Given the description of an element on the screen output the (x, y) to click on. 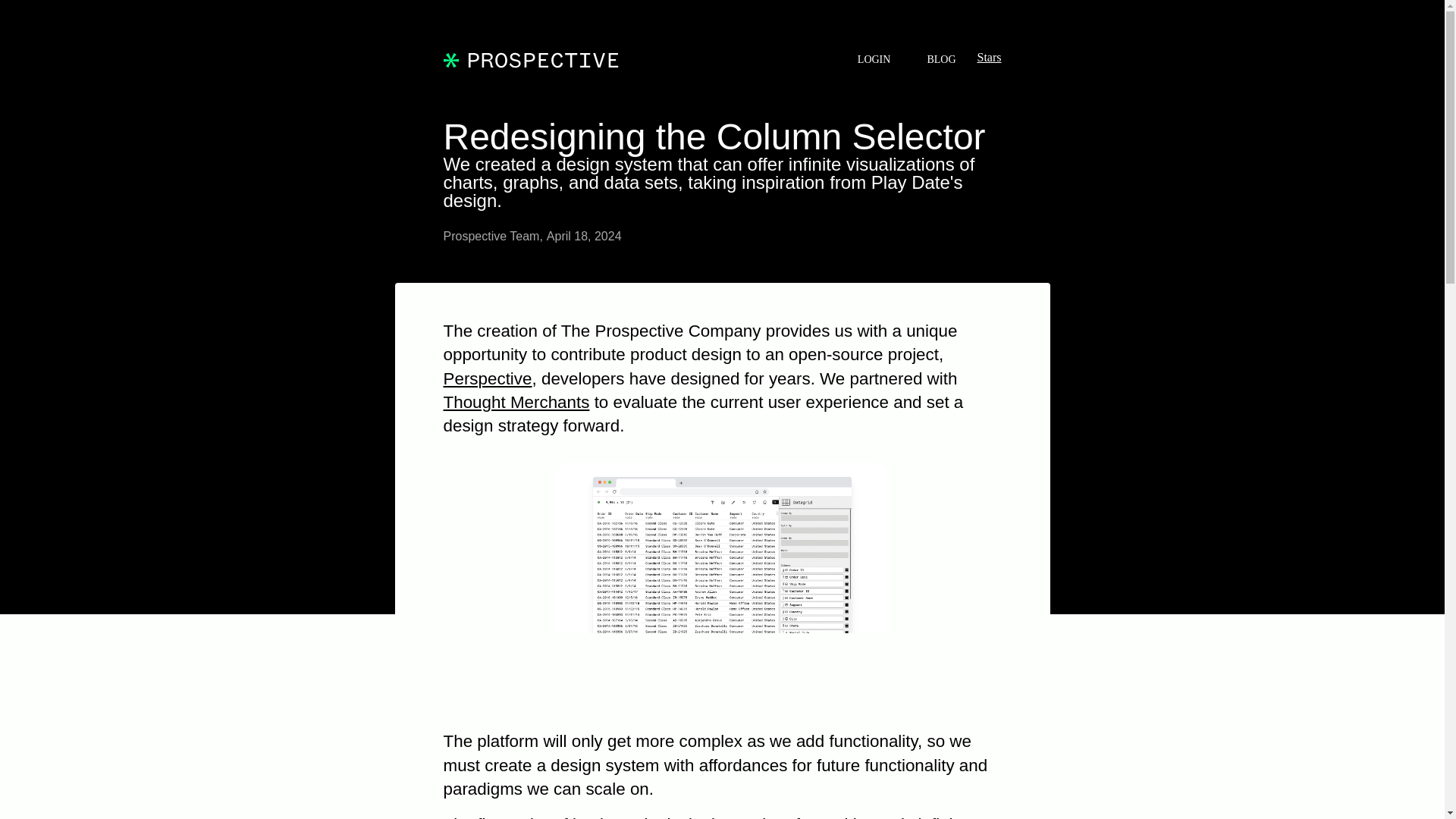
BLOG (941, 59)
Thought Merchants (515, 402)
Stars (988, 56)
LOGIN (874, 59)
Perspective (486, 378)
